Given the description of an element on the screen output the (x, y) to click on. 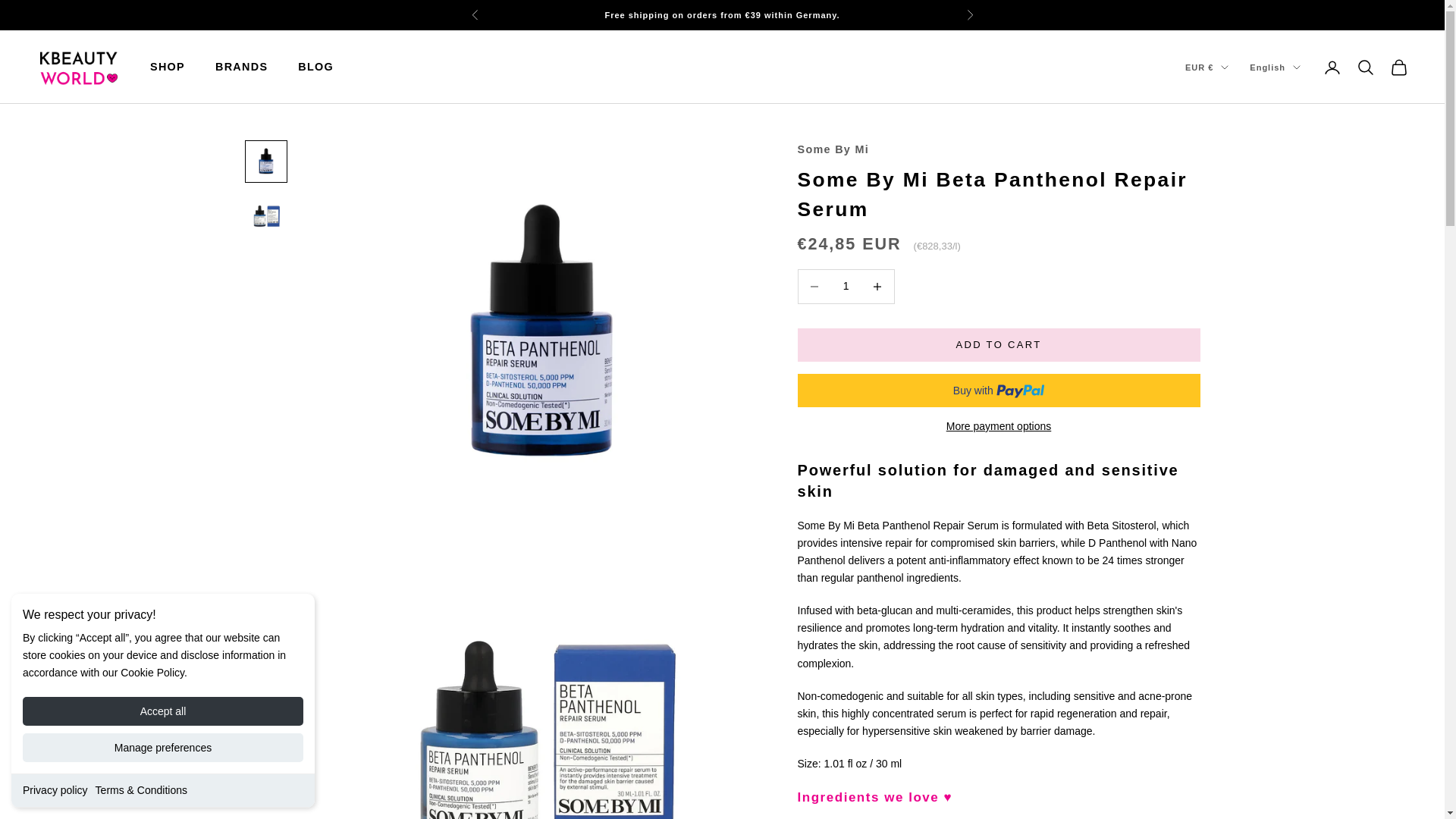
K Beauty World (77, 67)
1 (846, 286)
Manage preferences (162, 747)
Accept all (162, 710)
Privacy policy (55, 789)
